Given the description of an element on the screen output the (x, y) to click on. 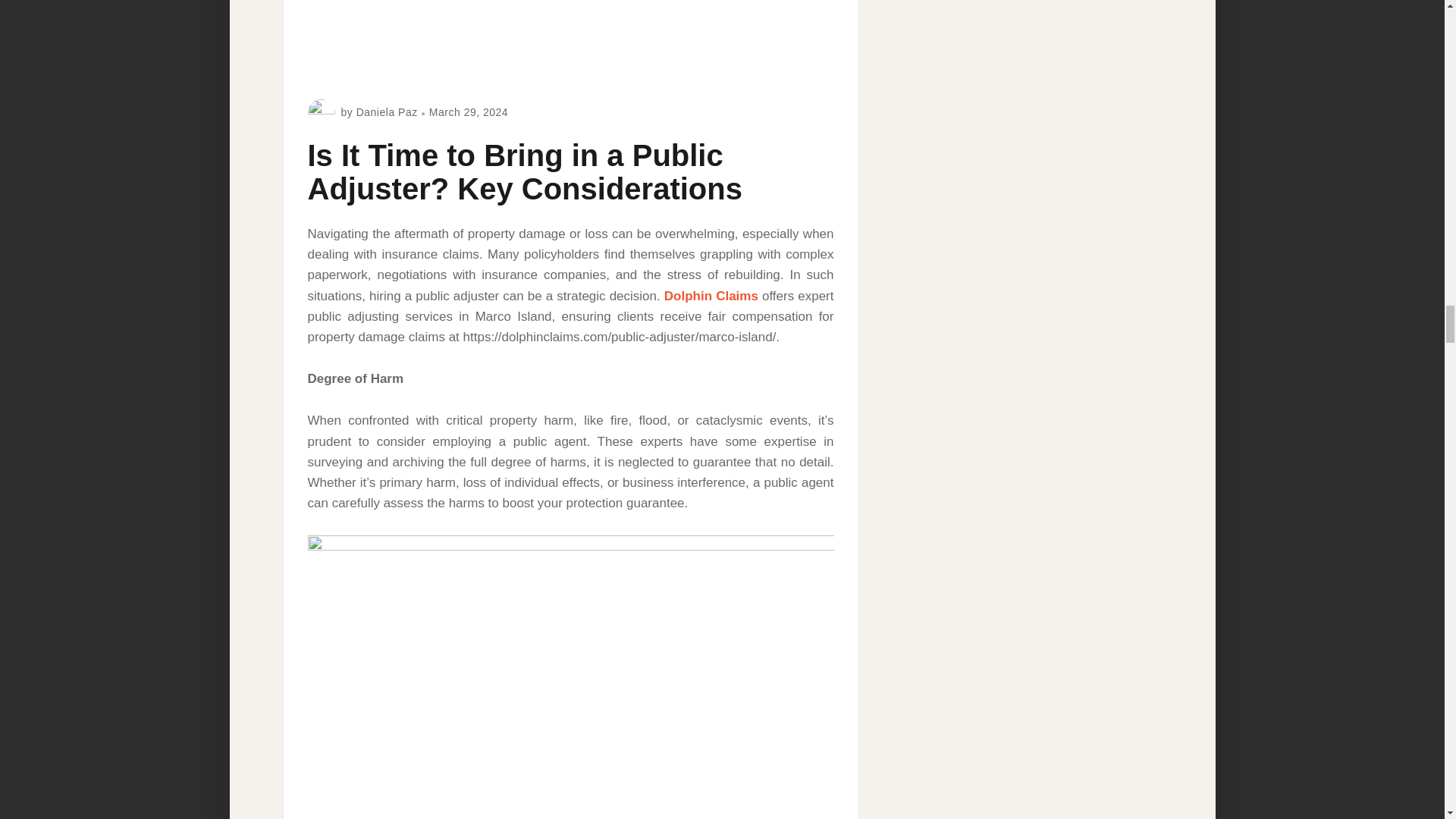
Dolphin Claims (710, 296)
Daniela Paz (386, 111)
March 29, 2024 (468, 111)
Is It Time to Bring in a Public Adjuster? Key Considerations (524, 171)
